Given the description of an element on the screen output the (x, y) to click on. 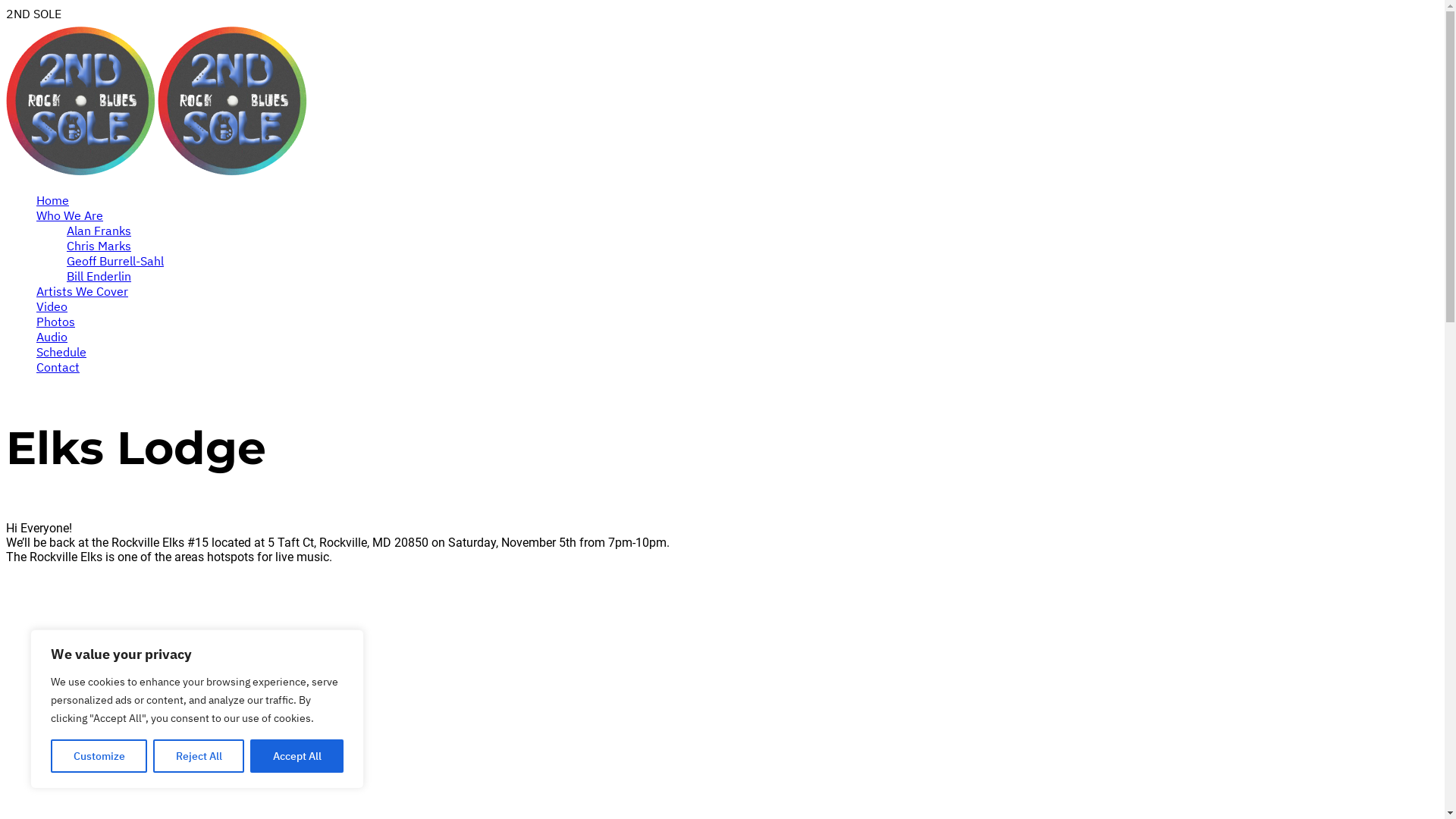
Reject All Element type: text (198, 755)
Customize Element type: text (98, 755)
Chris Marks Element type: text (98, 245)
Home Element type: text (52, 199)
Bill Enderlin Element type: text (98, 275)
Alan Franks Element type: text (98, 230)
Artists We Cover Element type: text (82, 290)
Photos Element type: text (55, 321)
Geoff Burrell-Sahl Element type: text (114, 260)
Audio Element type: text (51, 336)
Who We Are Element type: text (69, 214)
Contact Element type: text (57, 366)
Schedule Element type: text (61, 351)
Video Element type: text (51, 305)
Accept All Element type: text (296, 755)
